Given the description of an element on the screen output the (x, y) to click on. 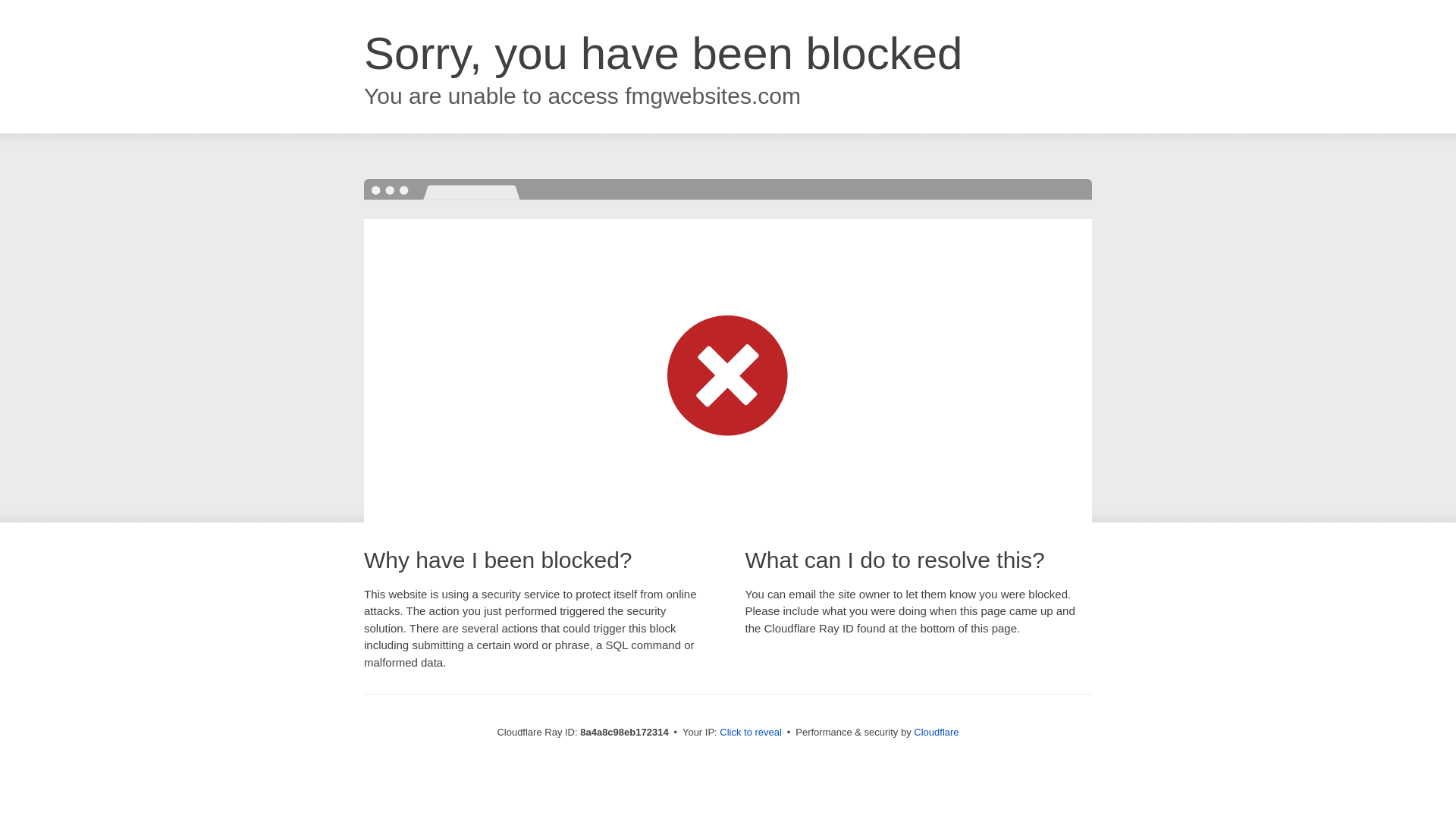
Cloudflare (936, 731)
Click to reveal (750, 732)
